Given the description of an element on the screen output the (x, y) to click on. 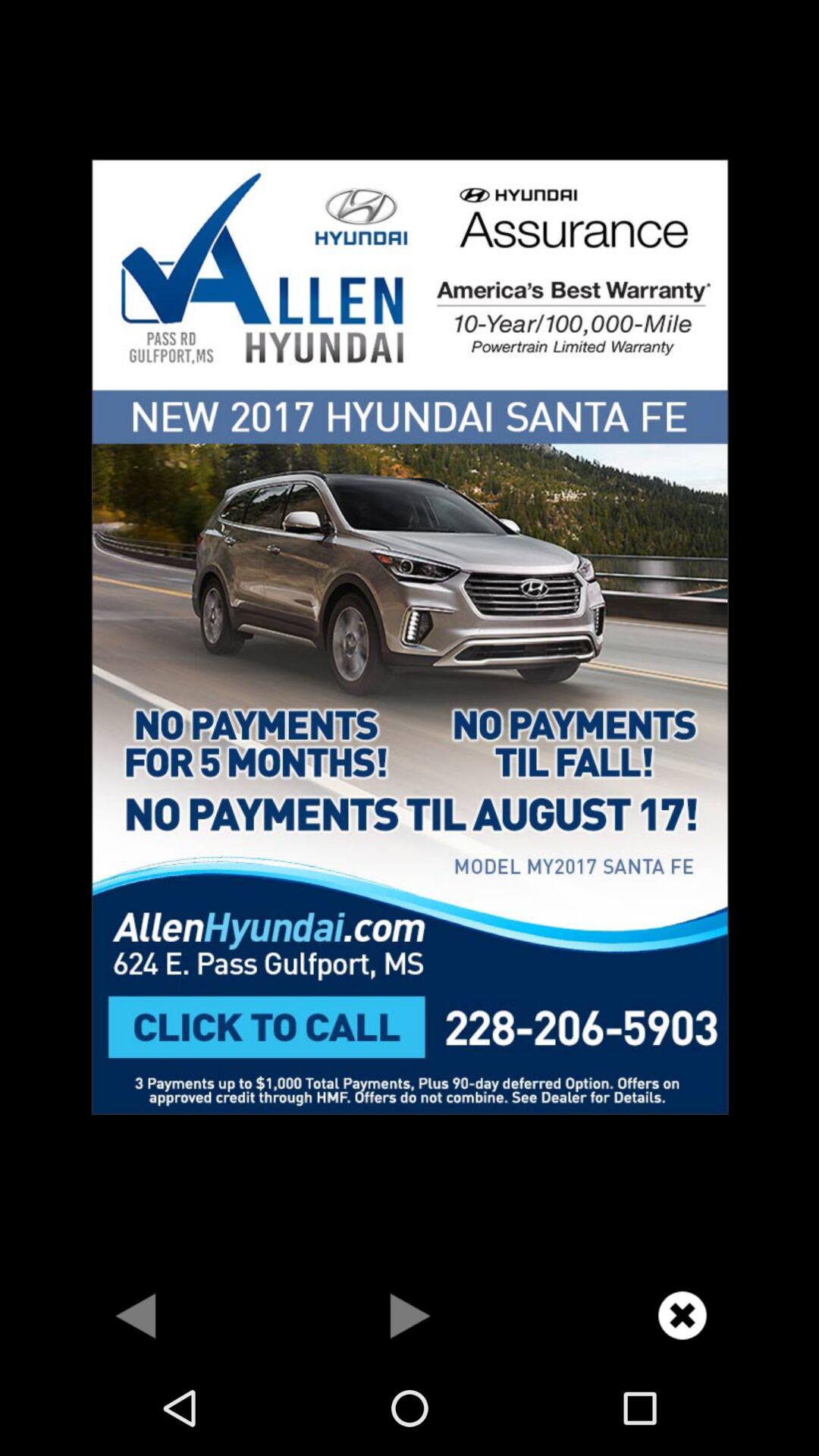
advertisement screen (409, 635)
